Given the description of an element on the screen output the (x, y) to click on. 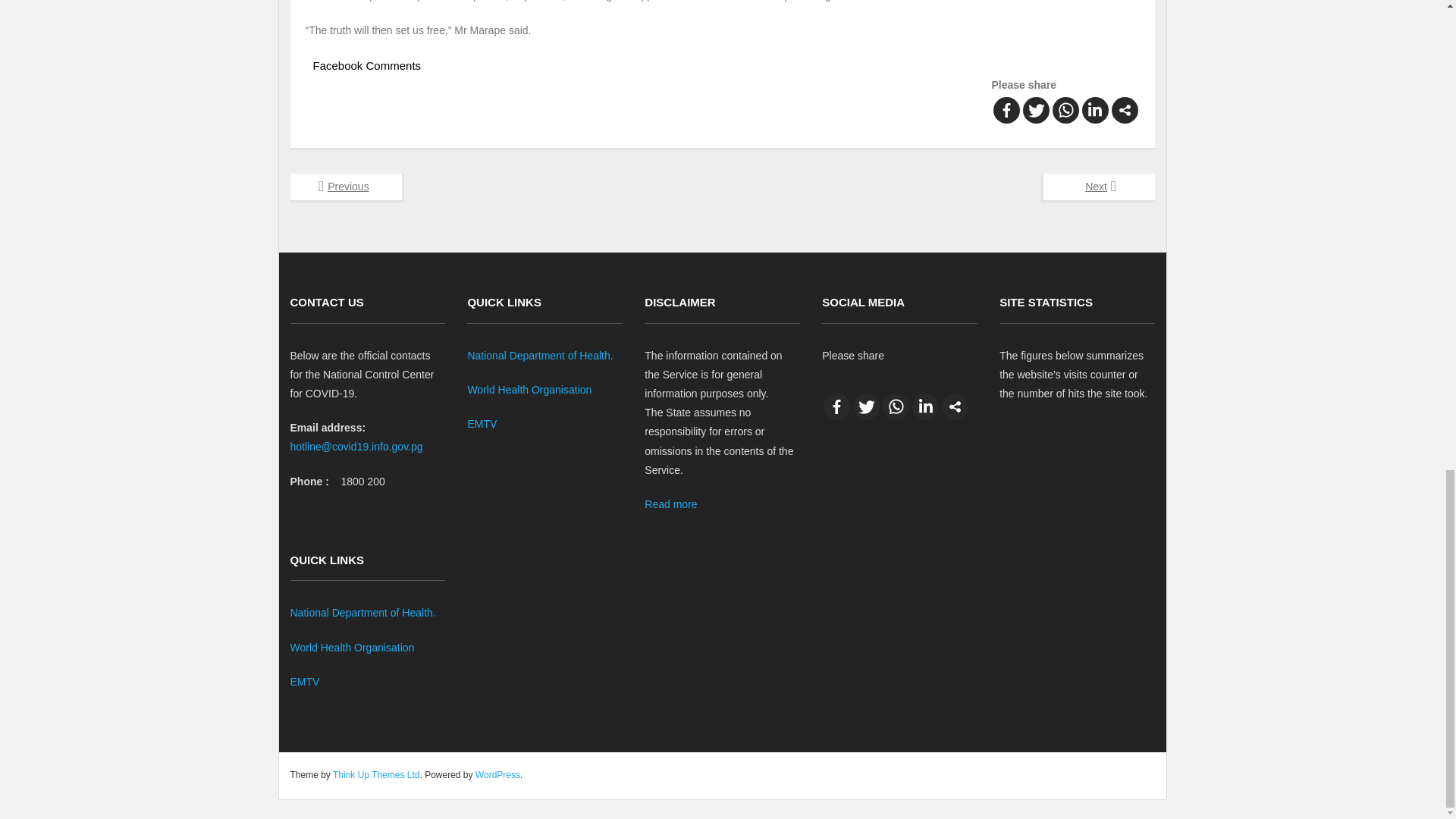
Read more (671, 503)
Previous (346, 187)
Twitter (1035, 110)
National Department of Health. (362, 612)
More (955, 406)
EMTV (303, 681)
EMTV (481, 423)
World Health Organisation (529, 389)
Whatsapp (1065, 110)
National Department of Health. (539, 355)
